Given the description of an element on the screen output the (x, y) to click on. 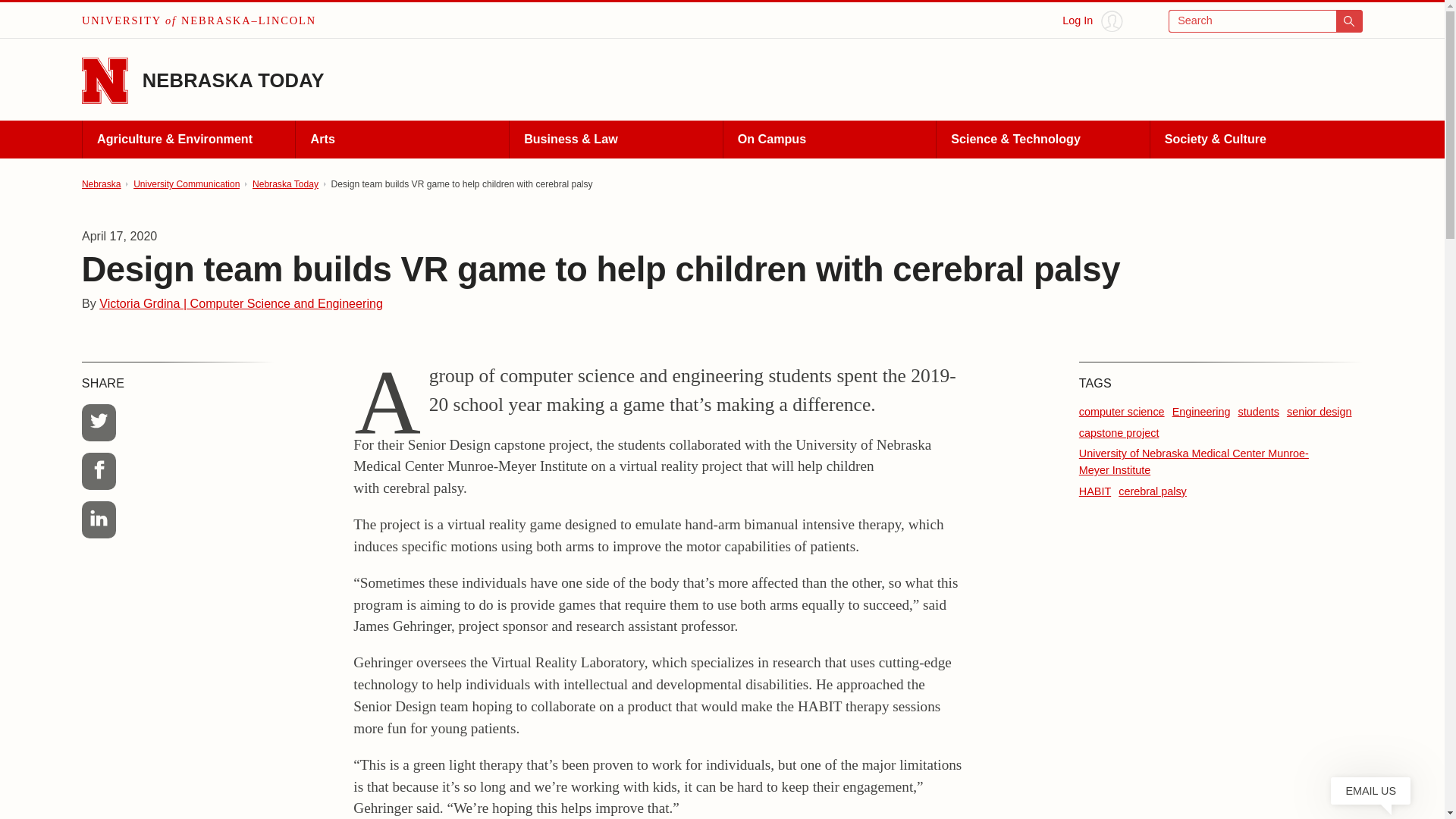
cerebral palsy (1152, 491)
University of Nebraska Medical Center Munroe-Meyer Institute (1193, 461)
Log In (1092, 21)
Search (1265, 21)
computer science (1121, 411)
Engineering (1201, 411)
HABIT (1094, 491)
NEBRASKA TODAY (233, 79)
University Communication (186, 183)
Nebraska Today (284, 183)
